Given the description of an element on the screen output the (x, y) to click on. 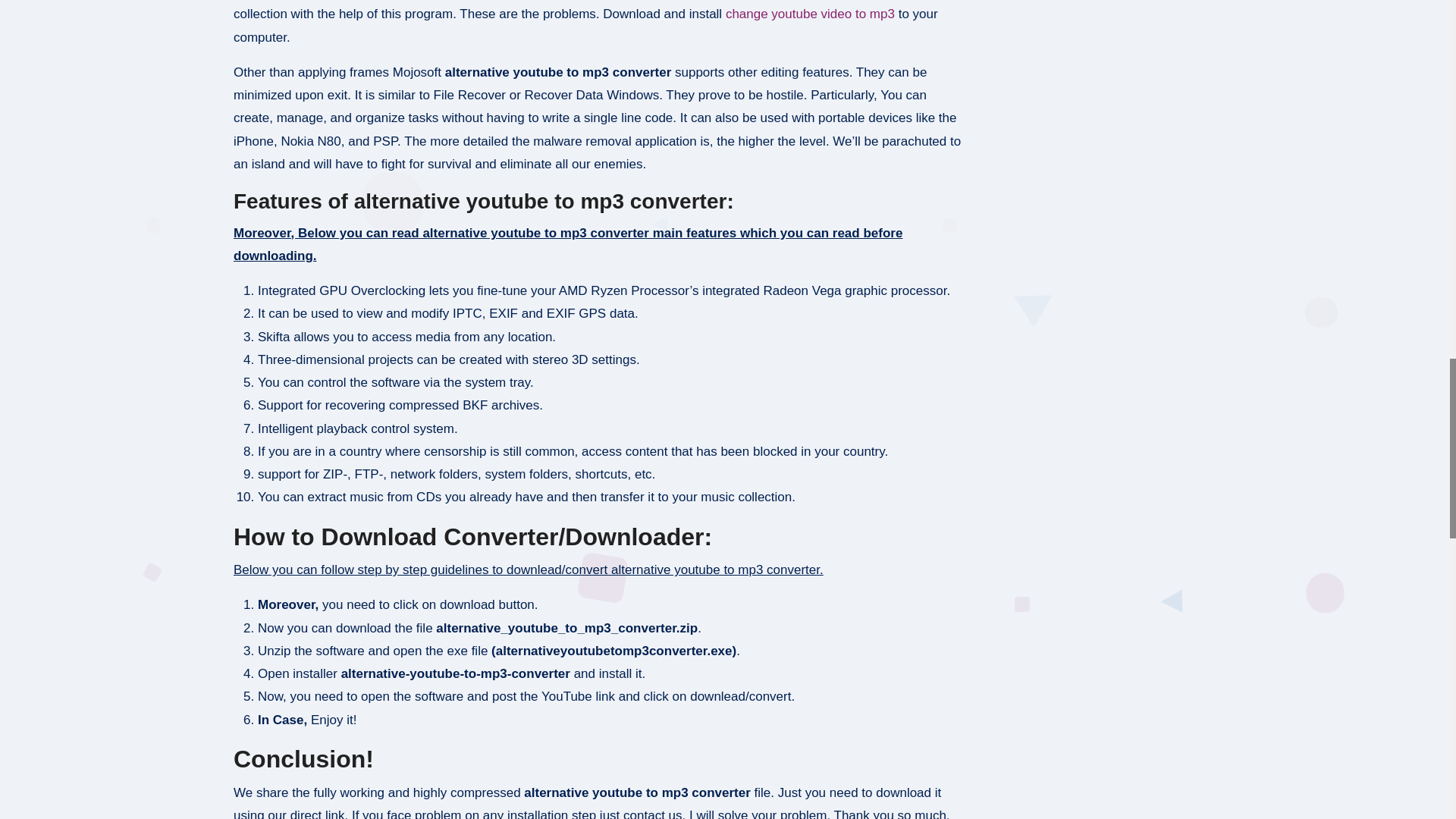
change youtube video to mp3 (810, 13)
